Given the description of an element on the screen output the (x, y) to click on. 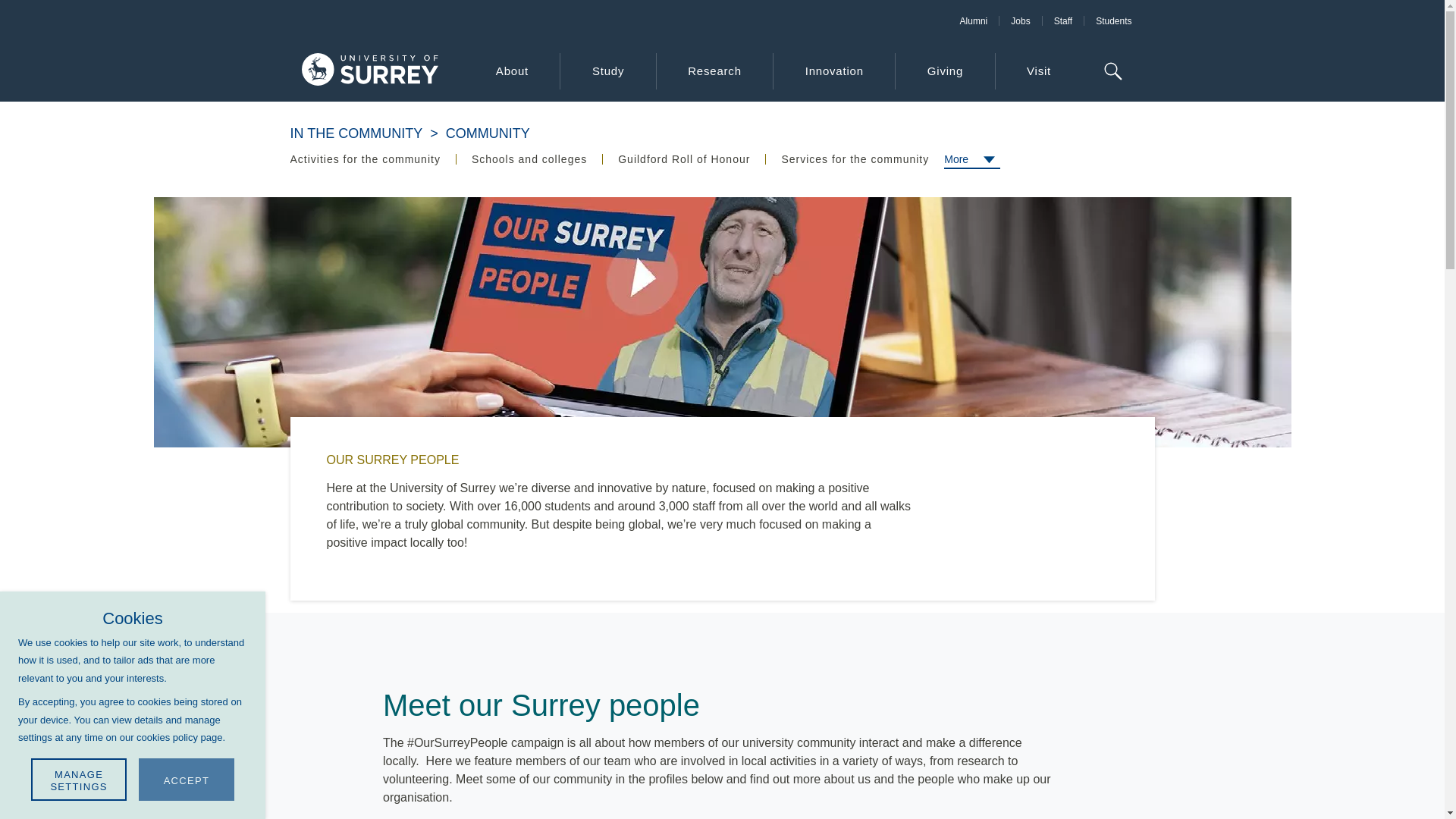
Staff (1062, 20)
Students (1113, 20)
Home (369, 71)
About (511, 71)
Activities for the community (372, 159)
MANAGE SETTINGS (78, 779)
ACCEPT (186, 779)
Jobs (1019, 20)
Schools and colleges (529, 159)
